Given the description of an element on the screen output the (x, y) to click on. 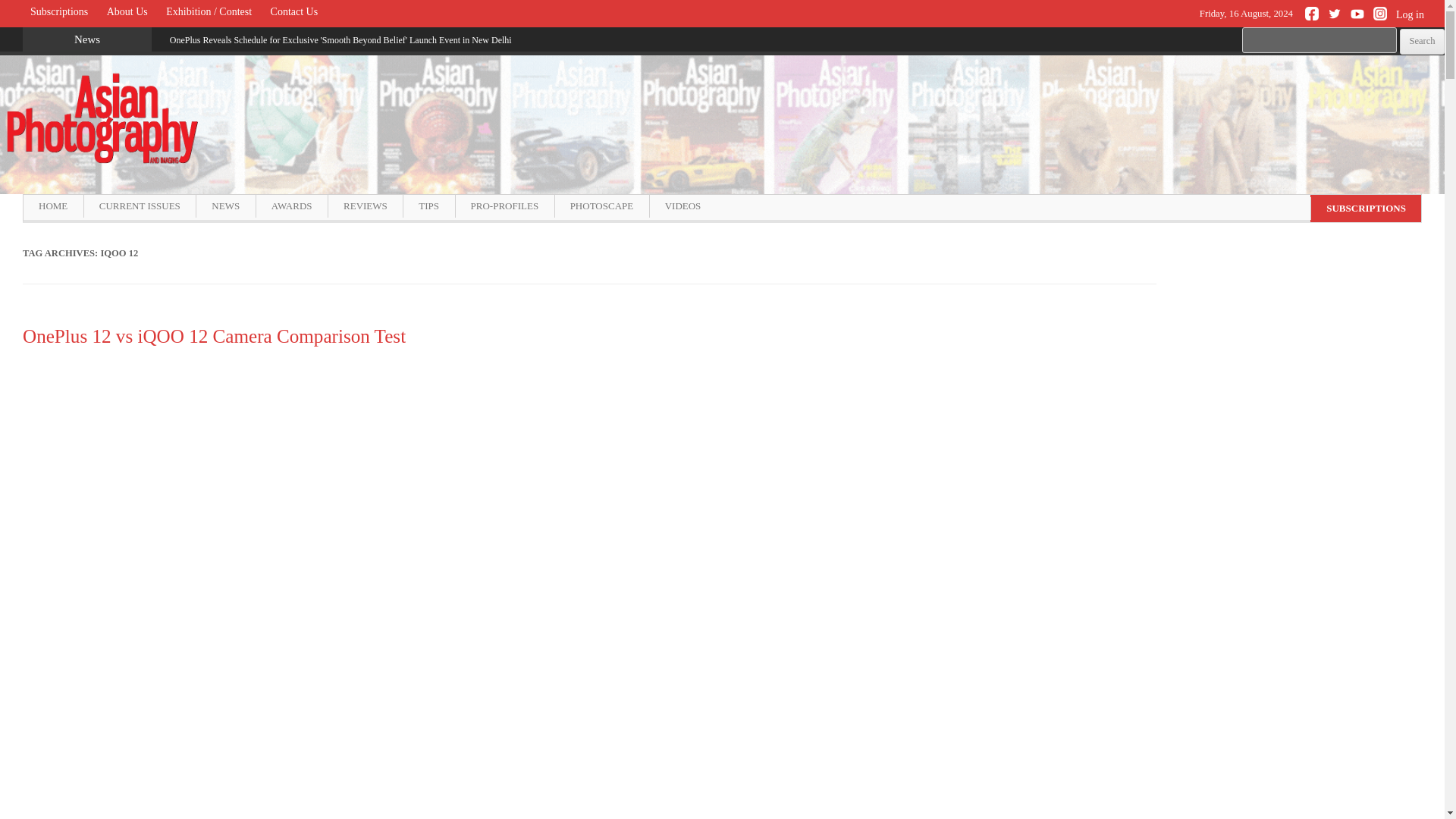
VIDEOS (682, 205)
AWARDS (291, 205)
About Us (127, 12)
Log in (1415, 22)
NEWS (224, 205)
HOME (52, 205)
